Given the description of an element on the screen output the (x, y) to click on. 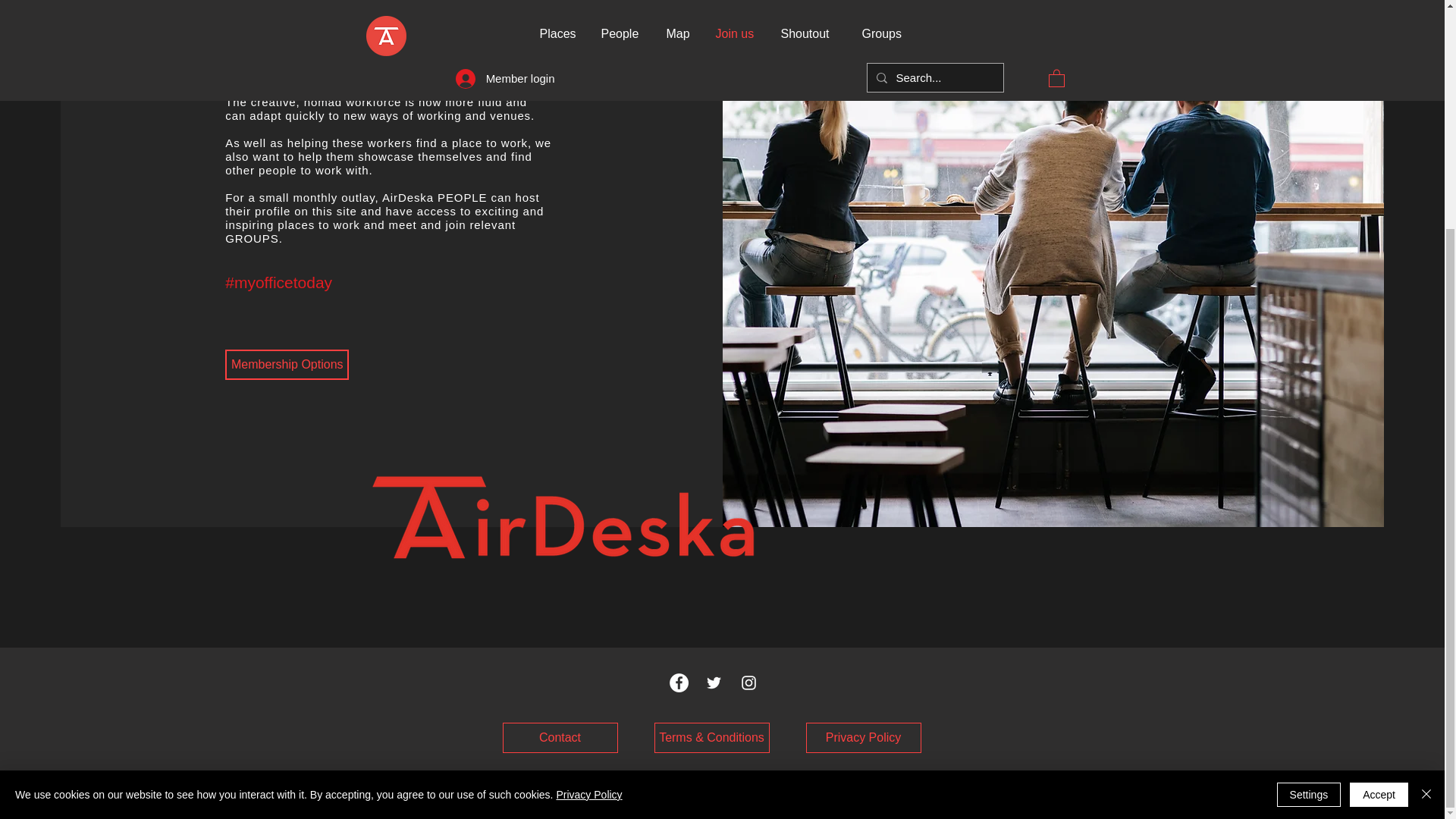
Accept (1378, 485)
Privacy Policy (588, 485)
Membership Options (287, 364)
Settings (1308, 485)
Contact (559, 737)
Privacy Policy (862, 737)
